Given the description of an element on the screen output the (x, y) to click on. 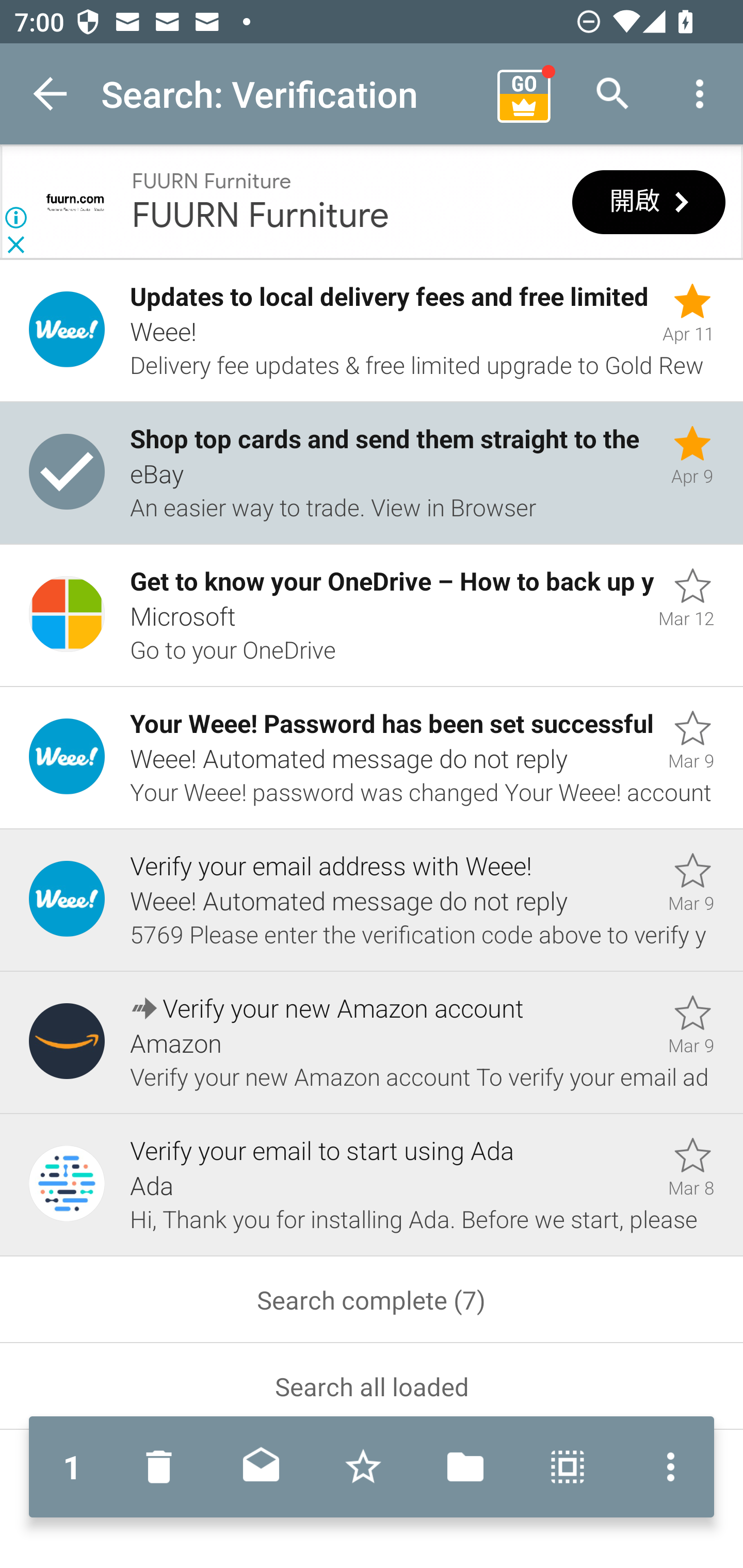
Navigate up (50, 93)
Search (612, 93)
More options (699, 93)
FUURN Furniture (74, 201)
FUURN Furniture (211, 181)
開啟 (648, 202)
FUURN Furniture (260, 215)
Search complete (7) (371, 1299)
Search all loaded (371, 1386)
1 1 message (71, 1466)
Move to Deleted (162, 1466)
Mark read (261, 1466)
Remove stars (363, 1466)
Move to folder… (465, 1466)
Select all (567, 1466)
More options (666, 1466)
